Given the description of an element on the screen output the (x, y) to click on. 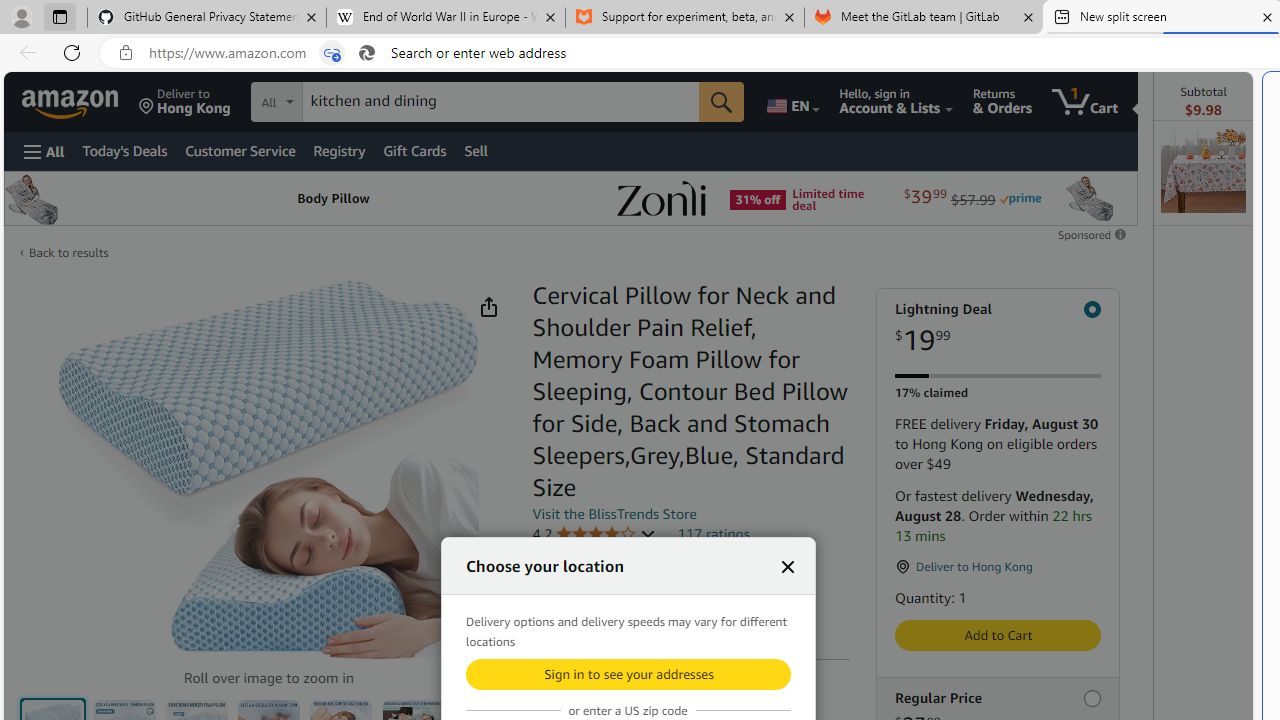
Sustainability features (542, 616)
Go (721, 101)
1 item in cart (1084, 101)
Lightning Deal $19.99 (997, 327)
Returns & Orders (1001, 101)
Deliver to Hong Kong (185, 101)
Hello, sign in Account & Lists (895, 101)
Sell (475, 150)
Choose a language for shopping. (792, 101)
Search Amazon (501, 101)
